Given the description of an element on the screen output the (x, y) to click on. 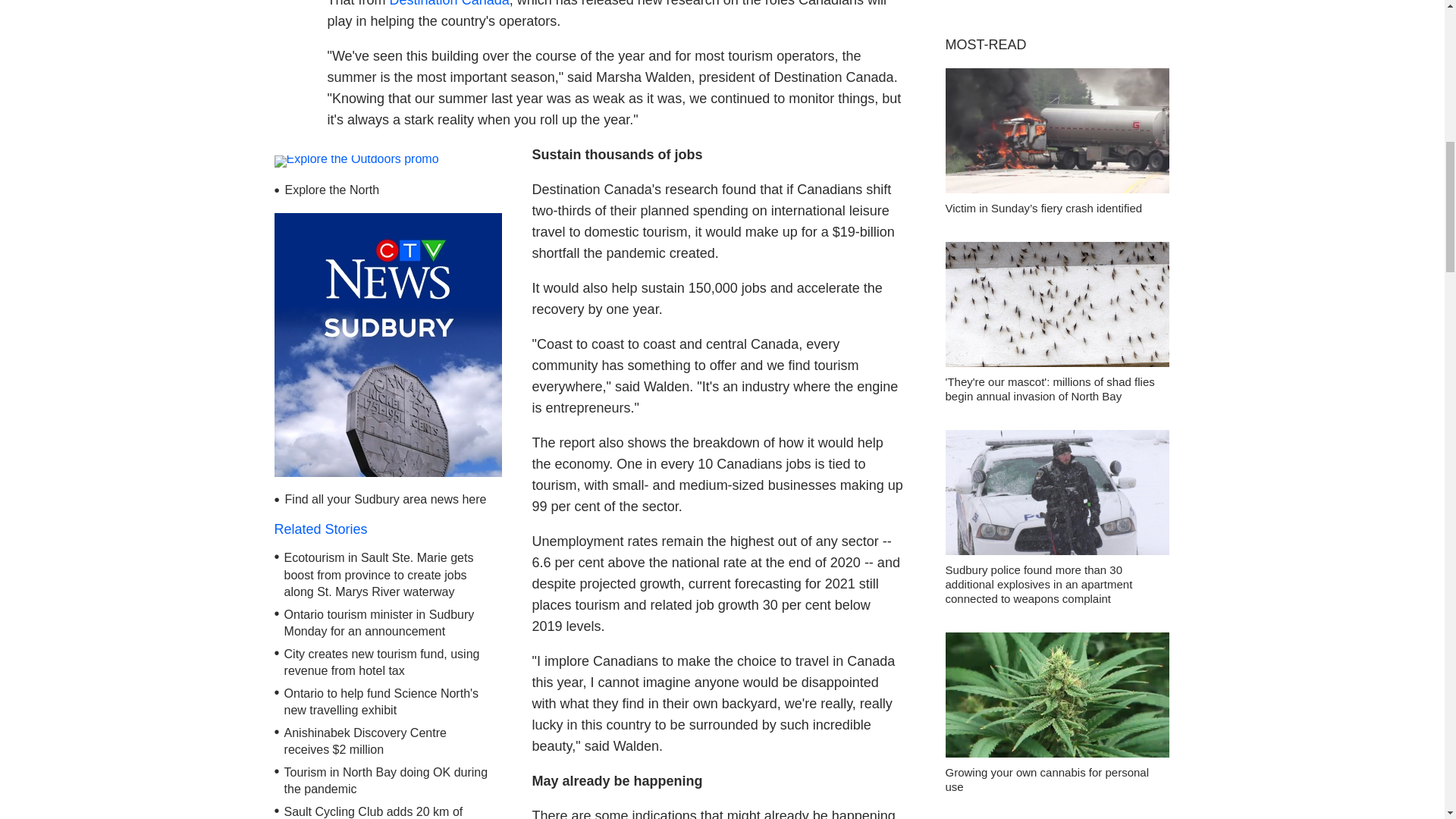
Find all your Sudbury area news here (385, 499)
Explore the North (332, 189)
Destination Canada (449, 3)
